Given the description of an element on the screen output the (x, y) to click on. 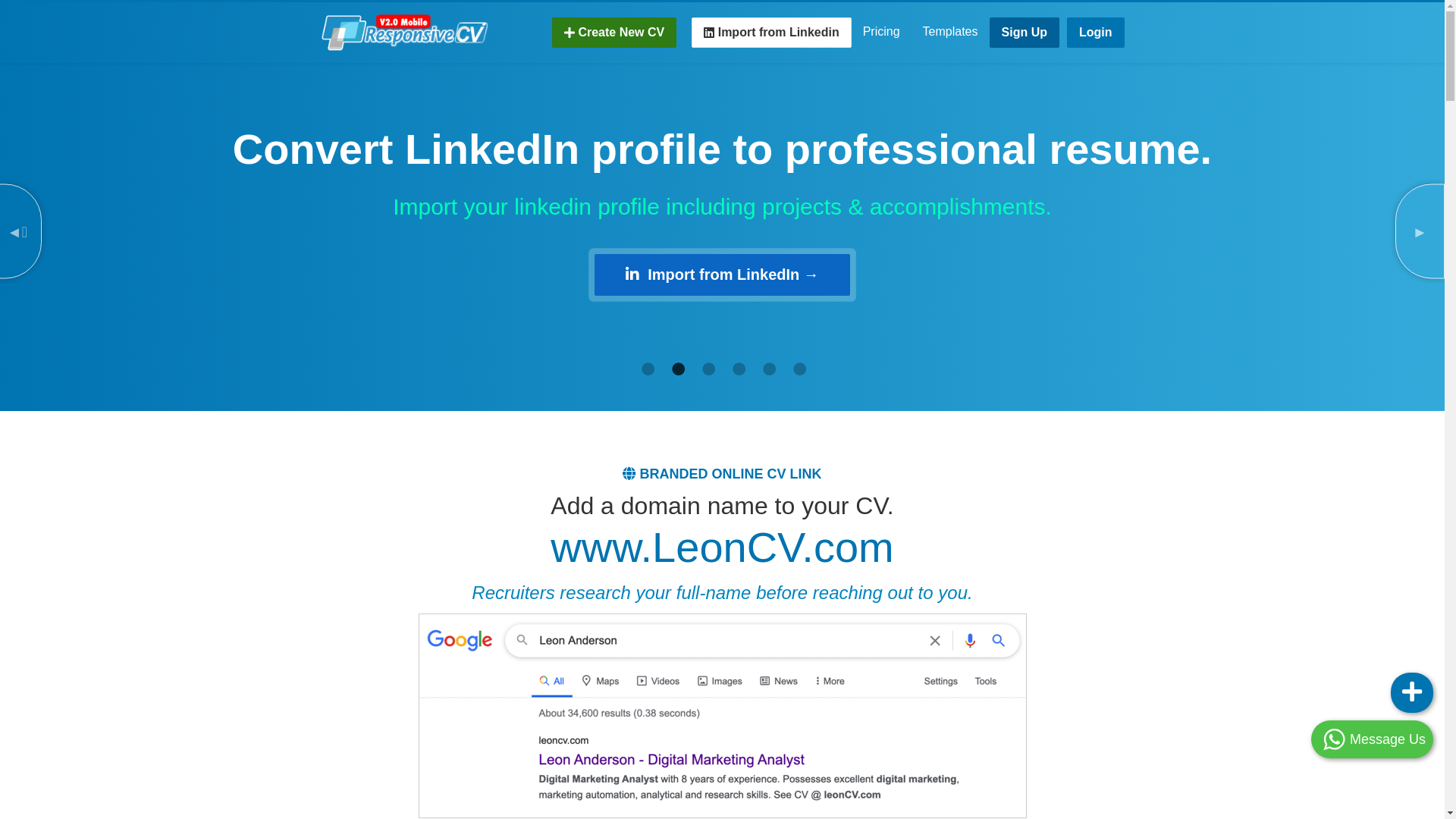
Templates Element type: text (950, 31)
Pricing Element type: text (881, 31)
Login Element type: text (1095, 32)
6 Element type: text (797, 368)
1 Element type: text (645, 368)
3 Element type: text (706, 368)
Next Element type: text (1419, 231)
 Import from Linkedin Element type: text (770, 32)
4 Element type: text (736, 368)
5 Element type: text (767, 368)
 Create New CV Element type: text (614, 32)
Sign Up Element type: text (1024, 32)
Message Us Element type: text (1372, 739)
2 Element type: text (676, 368)
